Given the description of an element on the screen output the (x, y) to click on. 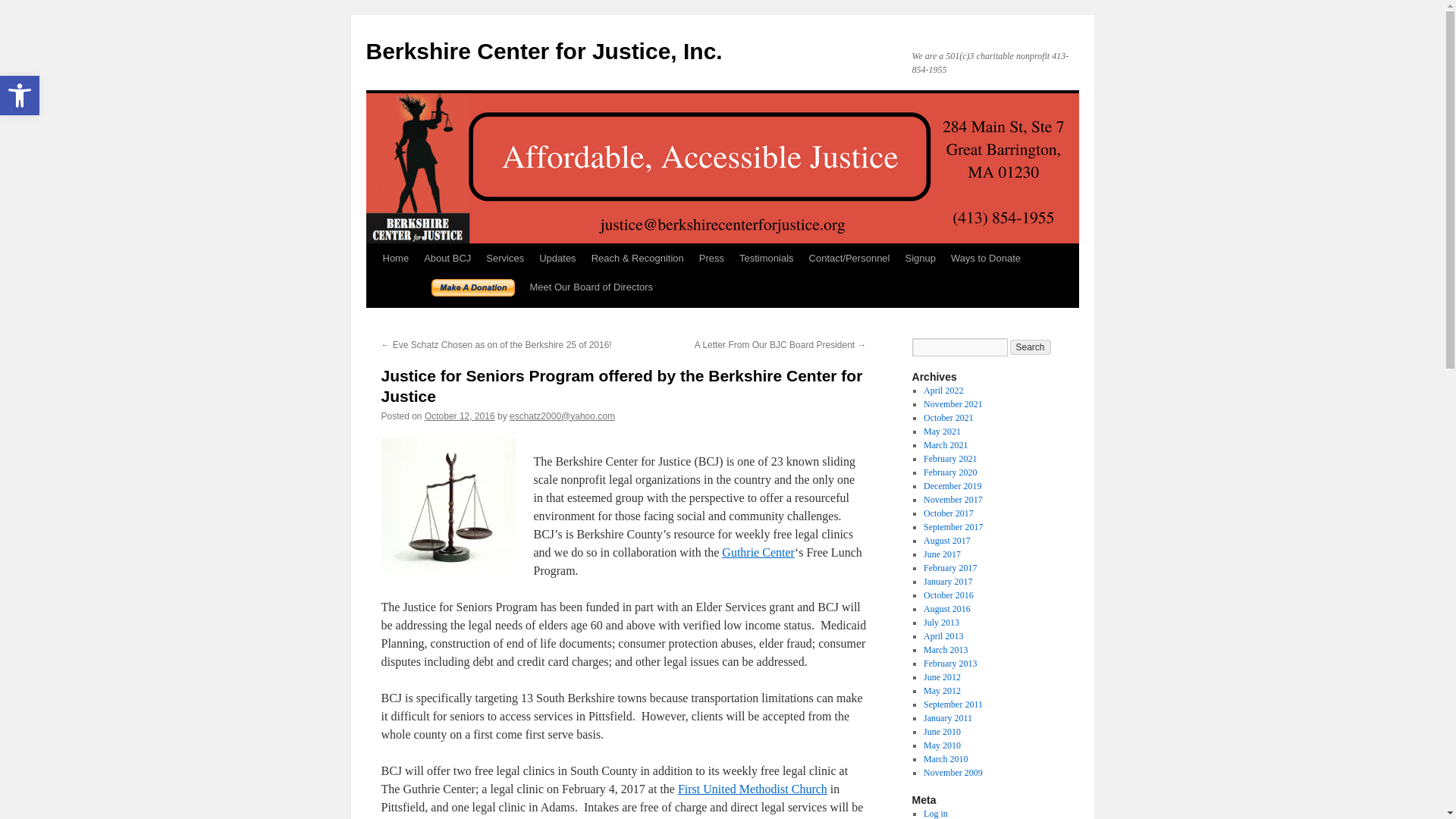
About BCJ (447, 258)
Services (505, 258)
8:58 am (460, 416)
Signup (19, 95)
Search (919, 258)
First United Methodist Church (1030, 346)
Testimonials (752, 788)
Updates (767, 258)
October 12, 2016 (557, 258)
Meet Our Board of Directors  (460, 416)
Berkshire Center for Justice, Inc. (591, 287)
Press (543, 50)
Berkshire Center for Justice, Inc. (711, 258)
Accessibility Tools (543, 50)
